Given the description of an element on the screen output the (x, y) to click on. 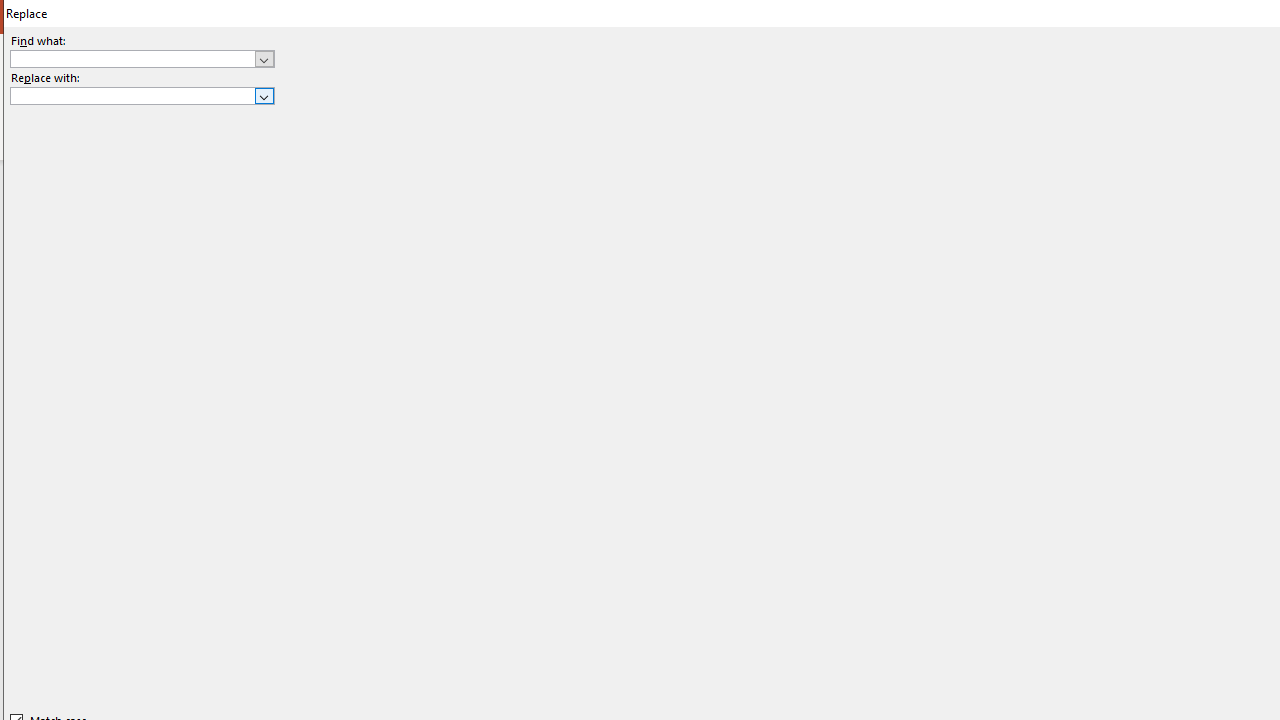
Find what (142, 58)
Find what (132, 58)
Replace with (132, 95)
Replace with (142, 96)
